Given the description of an element on the screen output the (x, y) to click on. 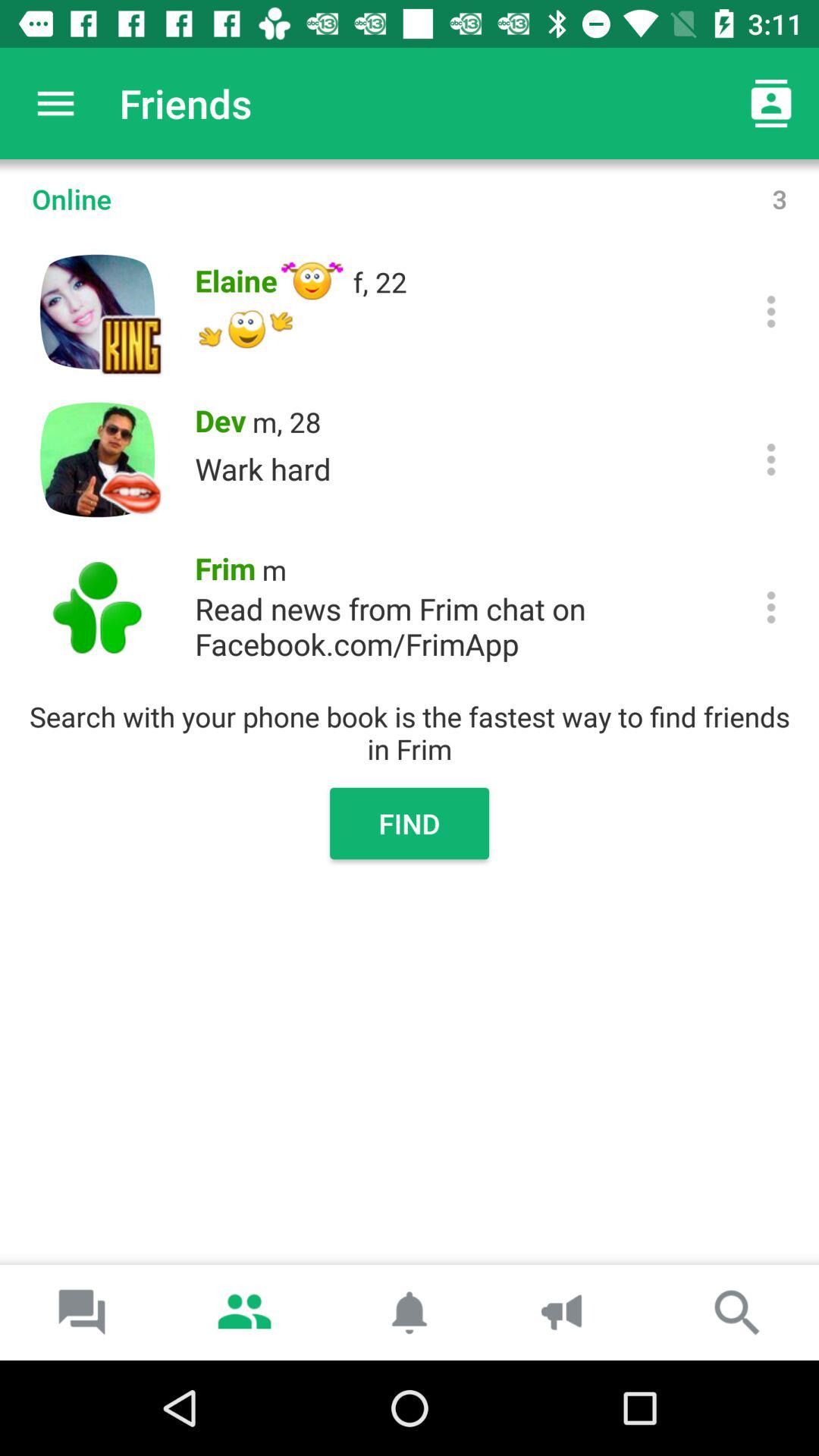
expand details (771, 311)
